Given the description of an element on the screen output the (x, y) to click on. 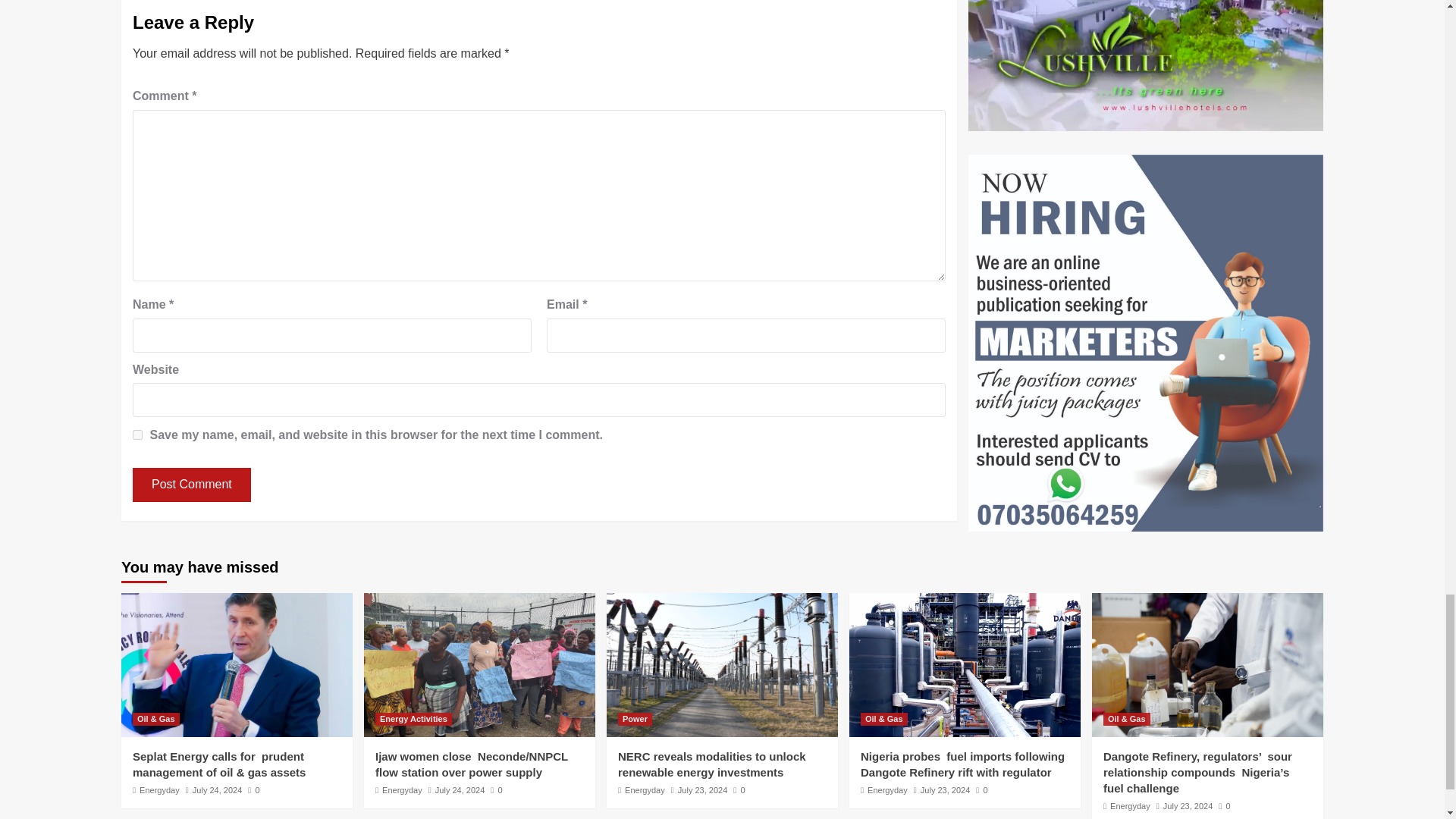
yes (137, 434)
Post Comment (191, 484)
